Given the description of an element on the screen output the (x, y) to click on. 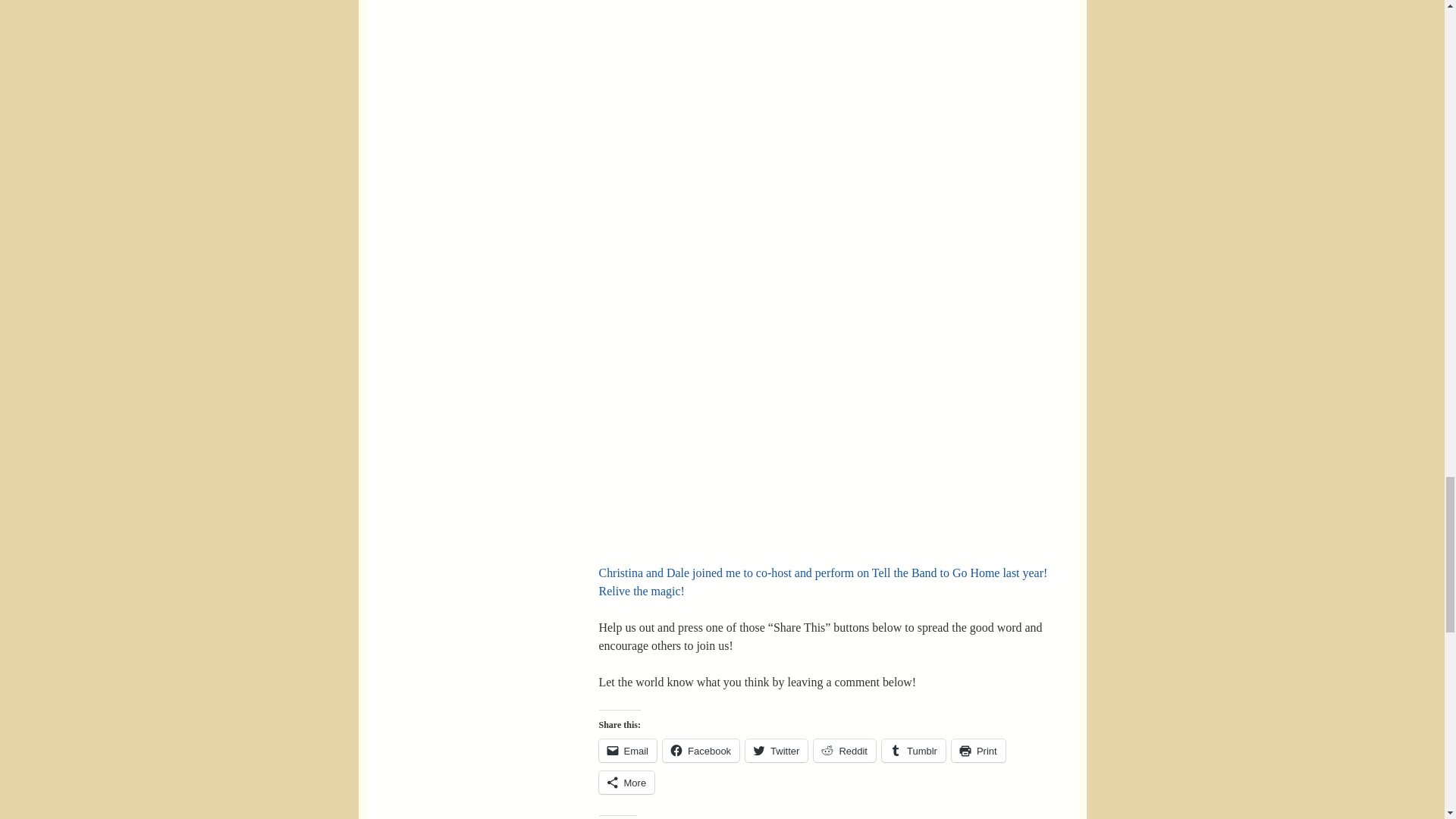
Click to email a link to a friend (628, 750)
Click to share on Twitter (776, 750)
Click to share on Tumblr (913, 750)
Click to share on Facebook (700, 750)
Click to share on Reddit (844, 750)
